Given the description of an element on the screen output the (x, y) to click on. 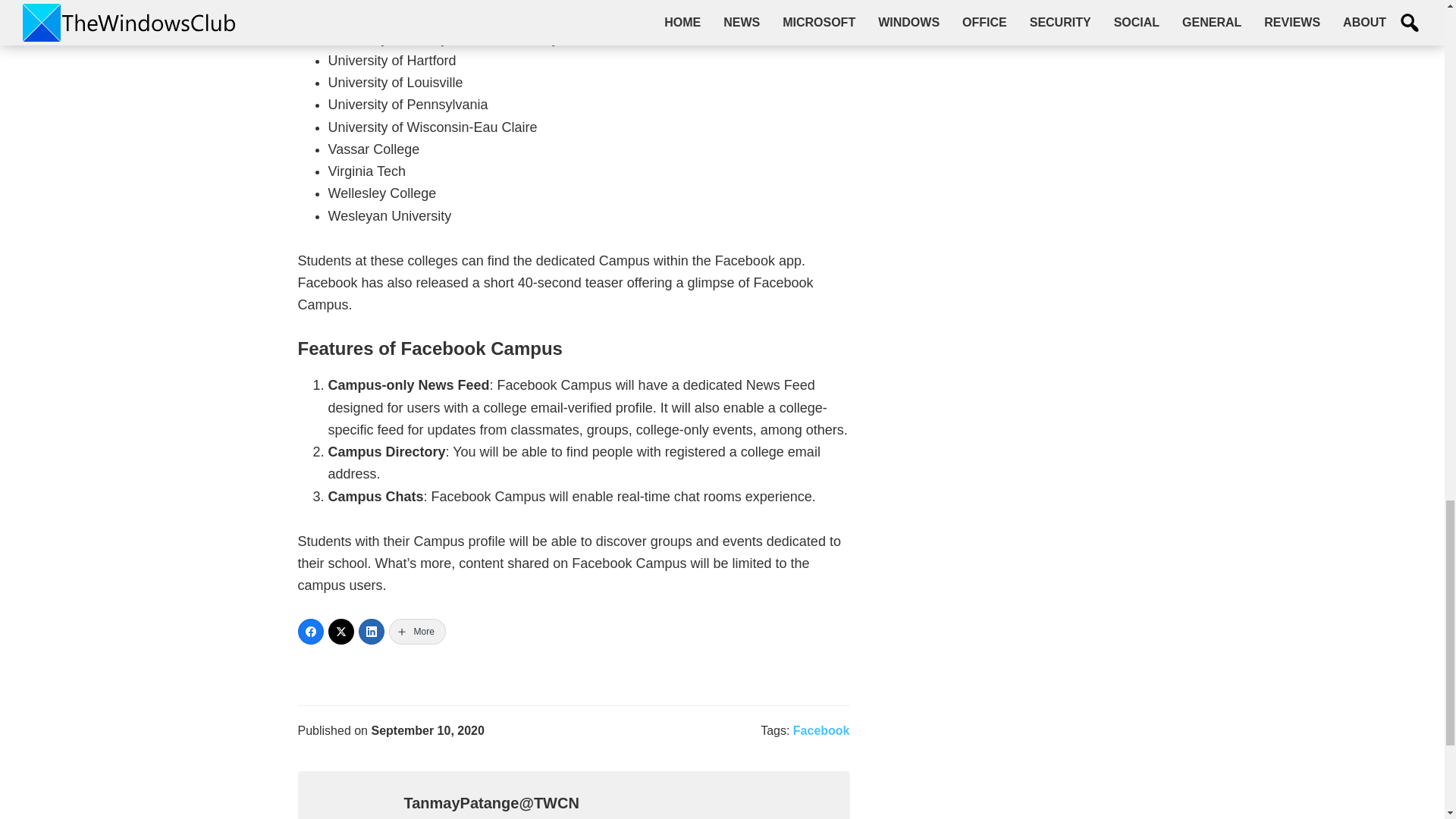
More (416, 631)
Facebook (821, 730)
